Given the description of an element on the screen output the (x, y) to click on. 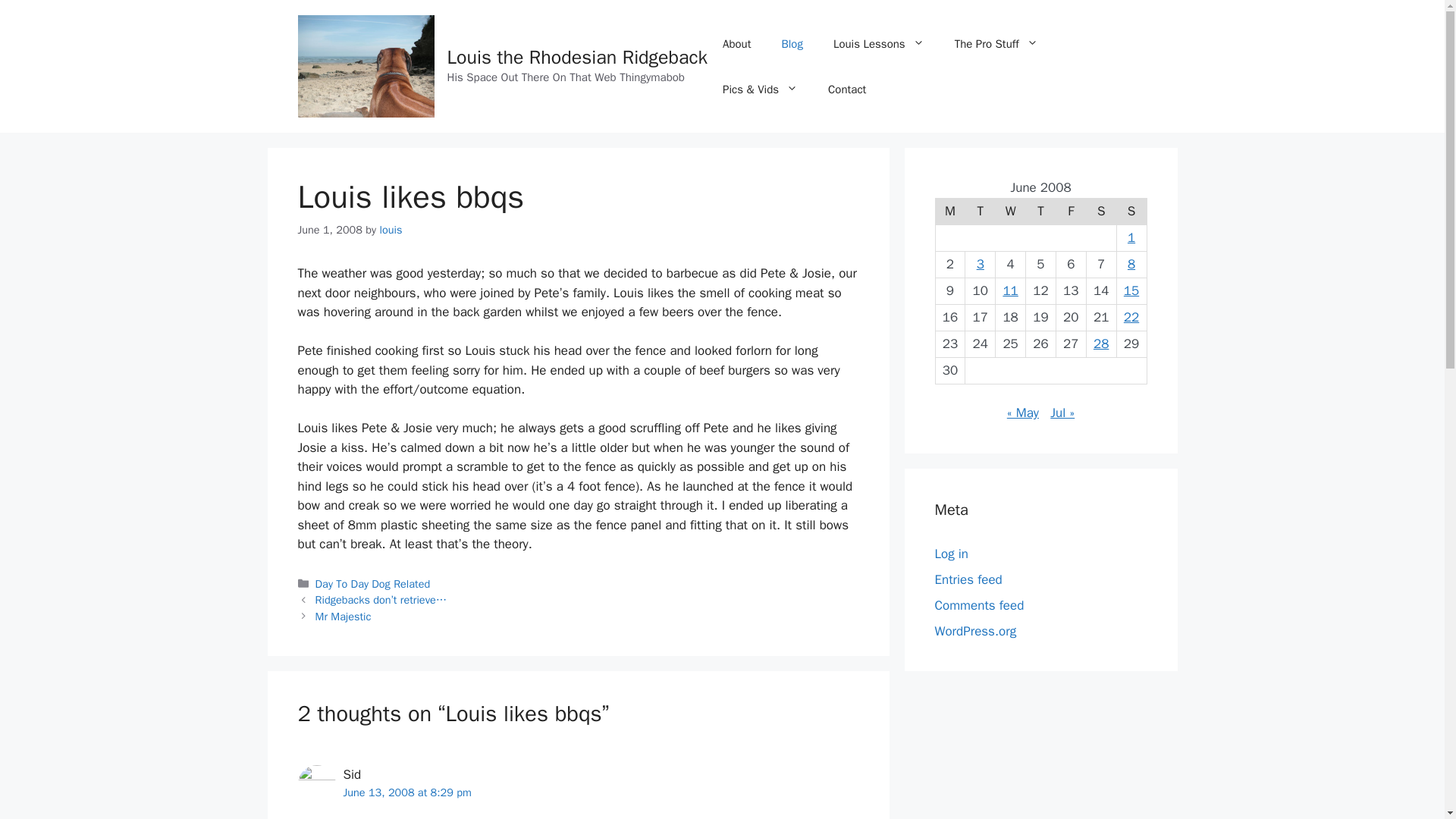
Friday (1070, 211)
15 (1131, 290)
Mr Majestic (343, 616)
Blog (790, 43)
Louis Lessons (878, 43)
Tuesday (980, 211)
June 13, 2008 at 8:29 pm (406, 792)
Sunday (1131, 211)
louis (389, 229)
View all posts by louis (389, 229)
About (736, 43)
Contact (846, 89)
The Pro Stuff (995, 43)
Entries feed (967, 579)
Log in (951, 553)
